Given the description of an element on the screen output the (x, y) to click on. 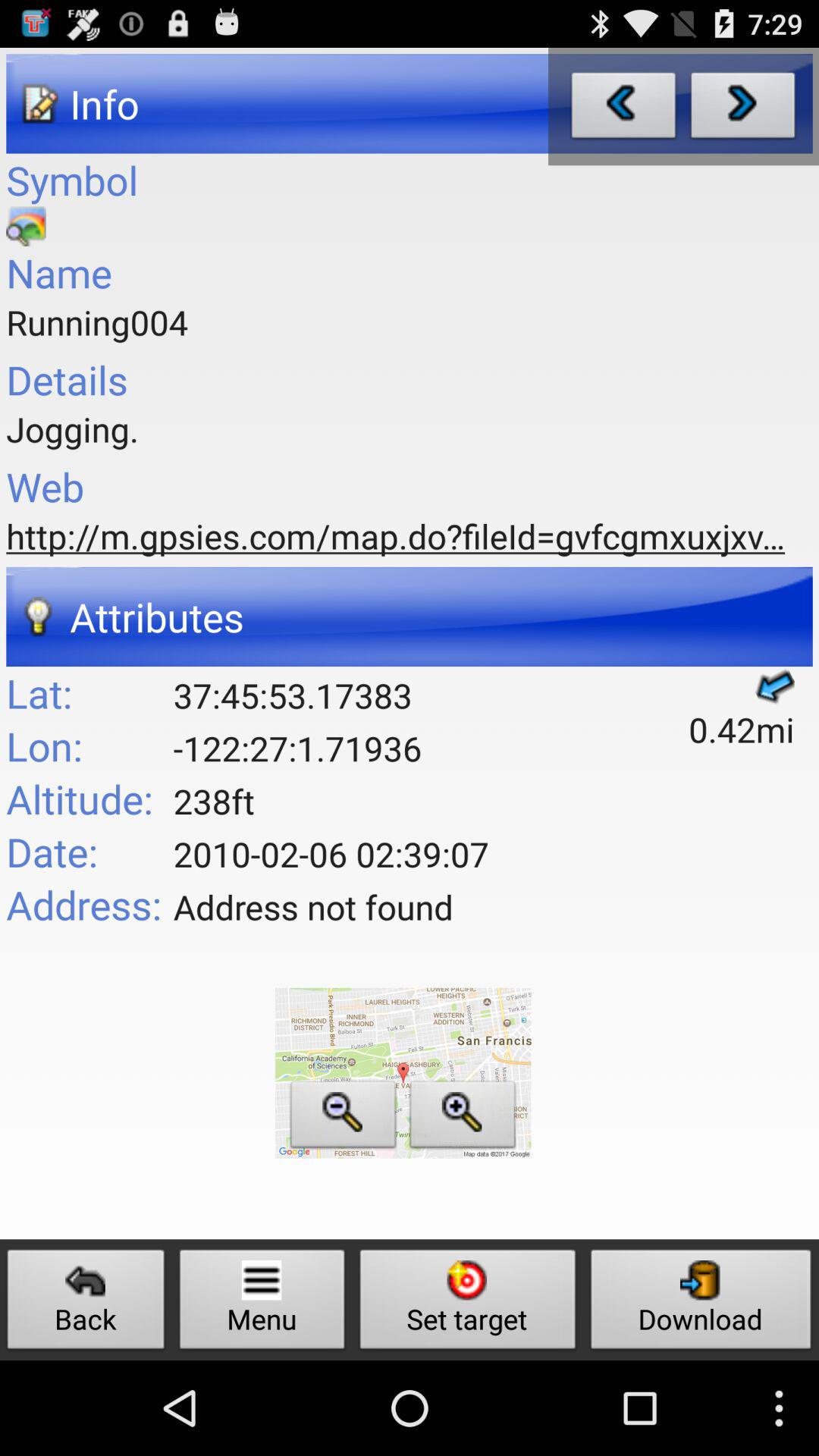
launch app to the right of the symbol item (623, 109)
